Given the description of an element on the screen output the (x, y) to click on. 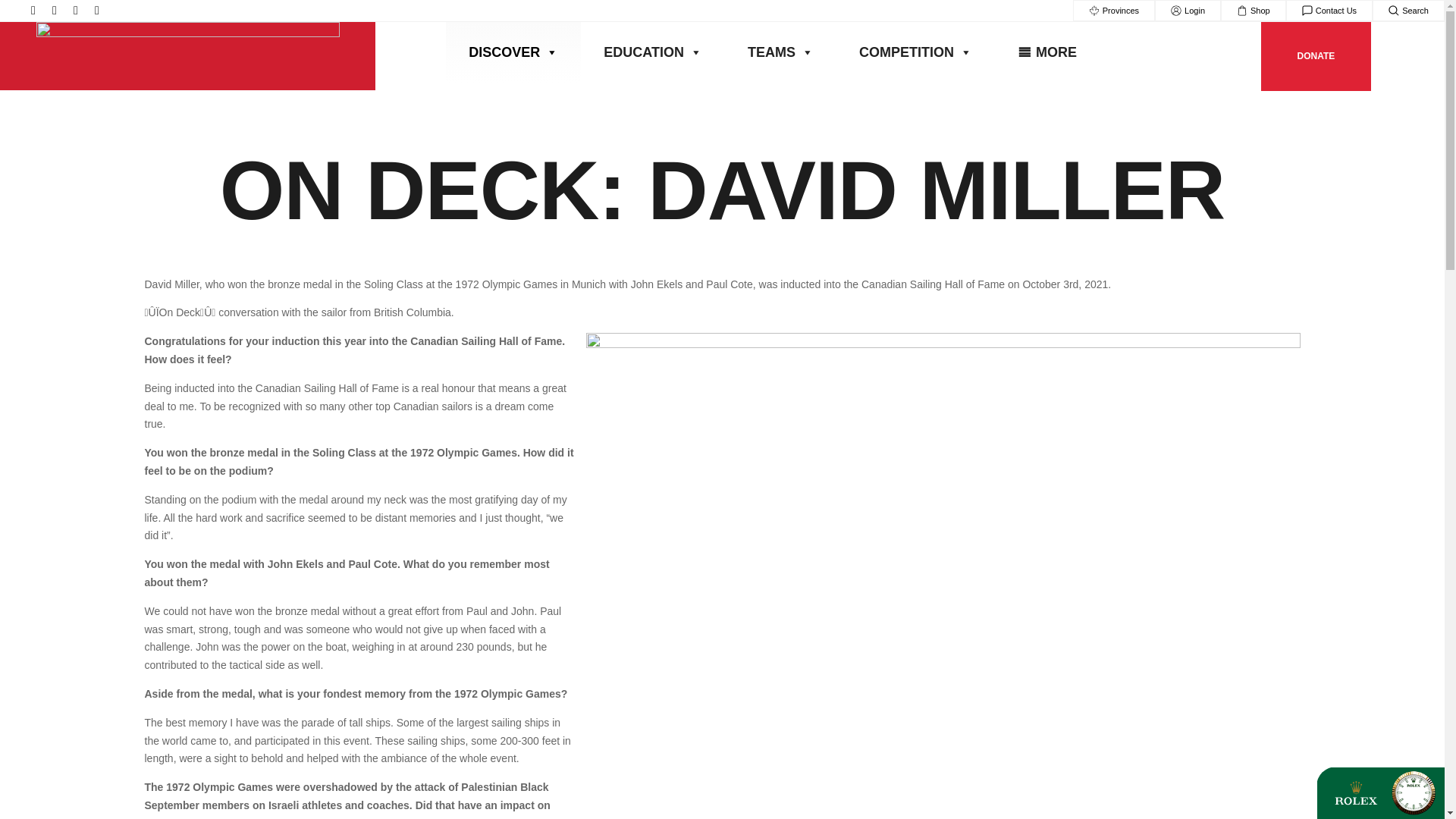
youtube (96, 10)
Contact Us (1328, 10)
Provinces (1113, 10)
instagram (33, 10)
TEAMS (780, 52)
Shop (1252, 10)
Contact Us (1328, 10)
new logo (187, 56)
facebook (54, 10)
DISCOVER (512, 52)
twitter (75, 10)
COMPETITION (914, 52)
Provinces (1113, 10)
Session (1187, 10)
Login (1187, 10)
